Given the description of an element on the screen output the (x, y) to click on. 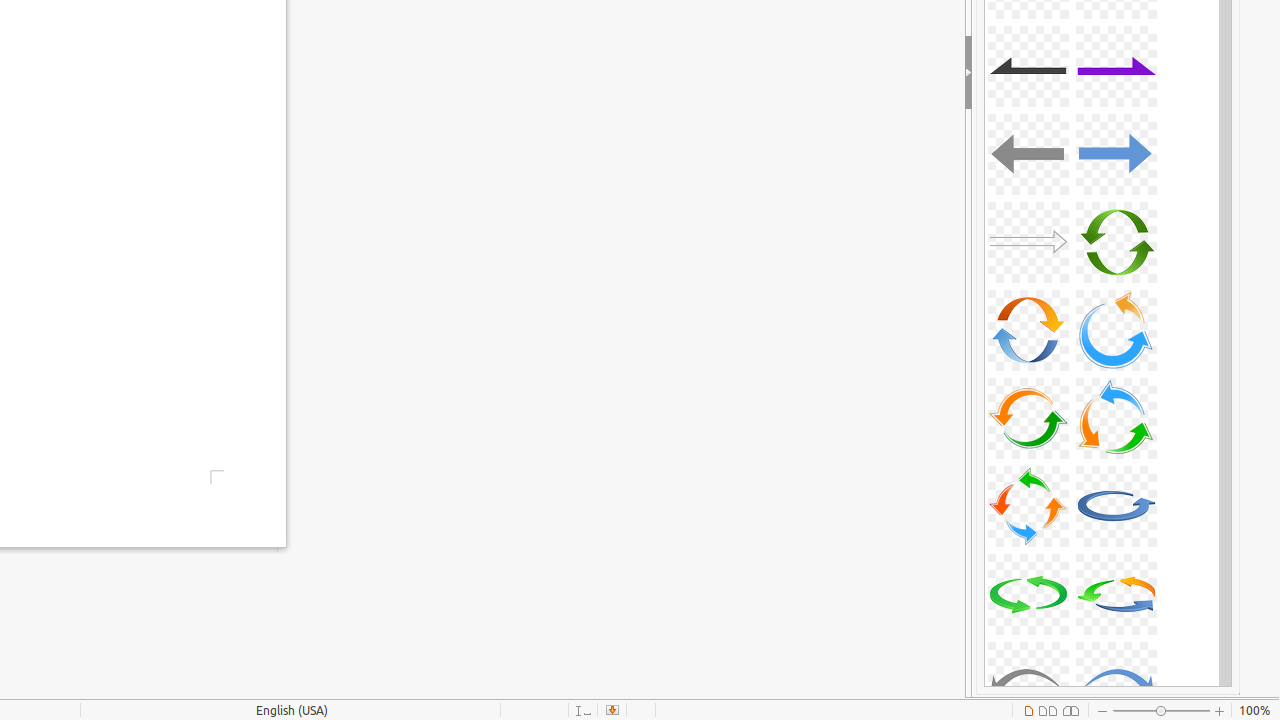
A12-Arrow-LightBlue-Right Element type: list-item (1116, 154)
A22-CircleArrow Element type: list-item (1116, 594)
A14-CircleArrow-Green Element type: list-item (1116, 242)
A10-Arrow-Purple-Right Element type: list-item (1116, 65)
A11-Arrow-Gray-Left Element type: list-item (1028, 154)
